Given the description of an element on the screen output the (x, y) to click on. 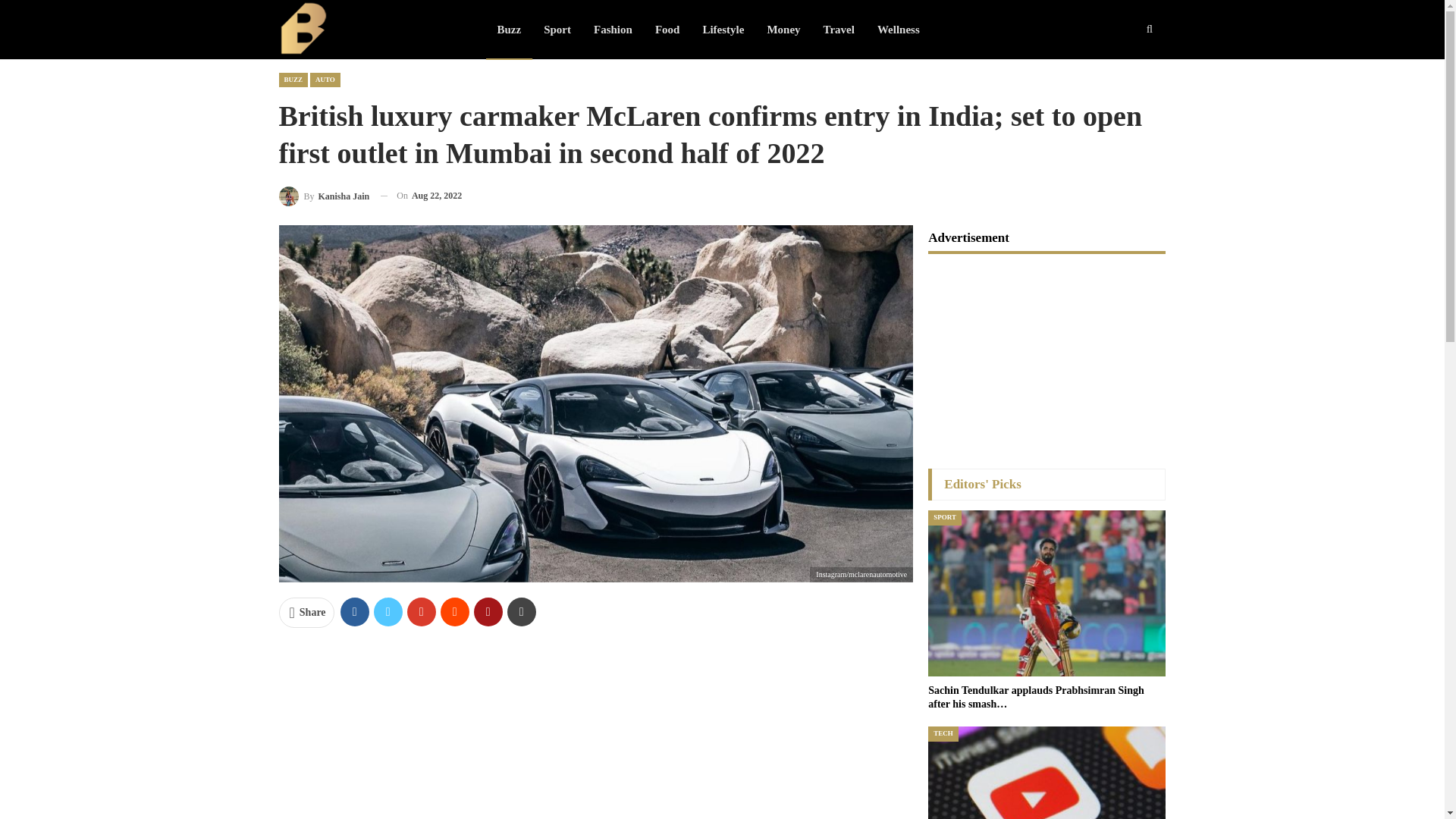
Advertisement (596, 730)
Fashion (612, 29)
Travel (839, 29)
Browse Author Articles (324, 195)
Wellness (898, 29)
Lifestyle (722, 29)
AUTO (325, 79)
Money (782, 29)
By Kanisha Jain (324, 195)
BUZZ (293, 79)
